Given the description of an element on the screen output the (x, y) to click on. 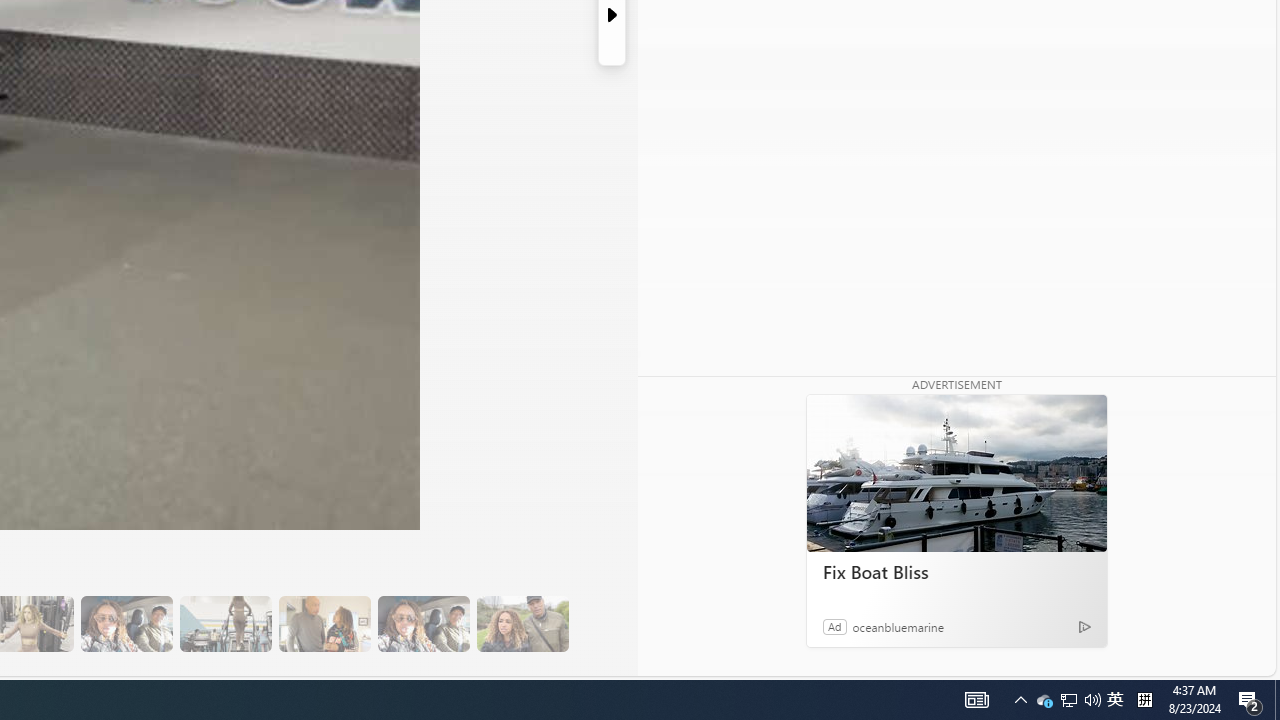
20 Overall, It Will Improve Your Health (522, 624)
19 It Also Simplifies Thiings (423, 624)
